Given the description of an element on the screen output the (x, y) to click on. 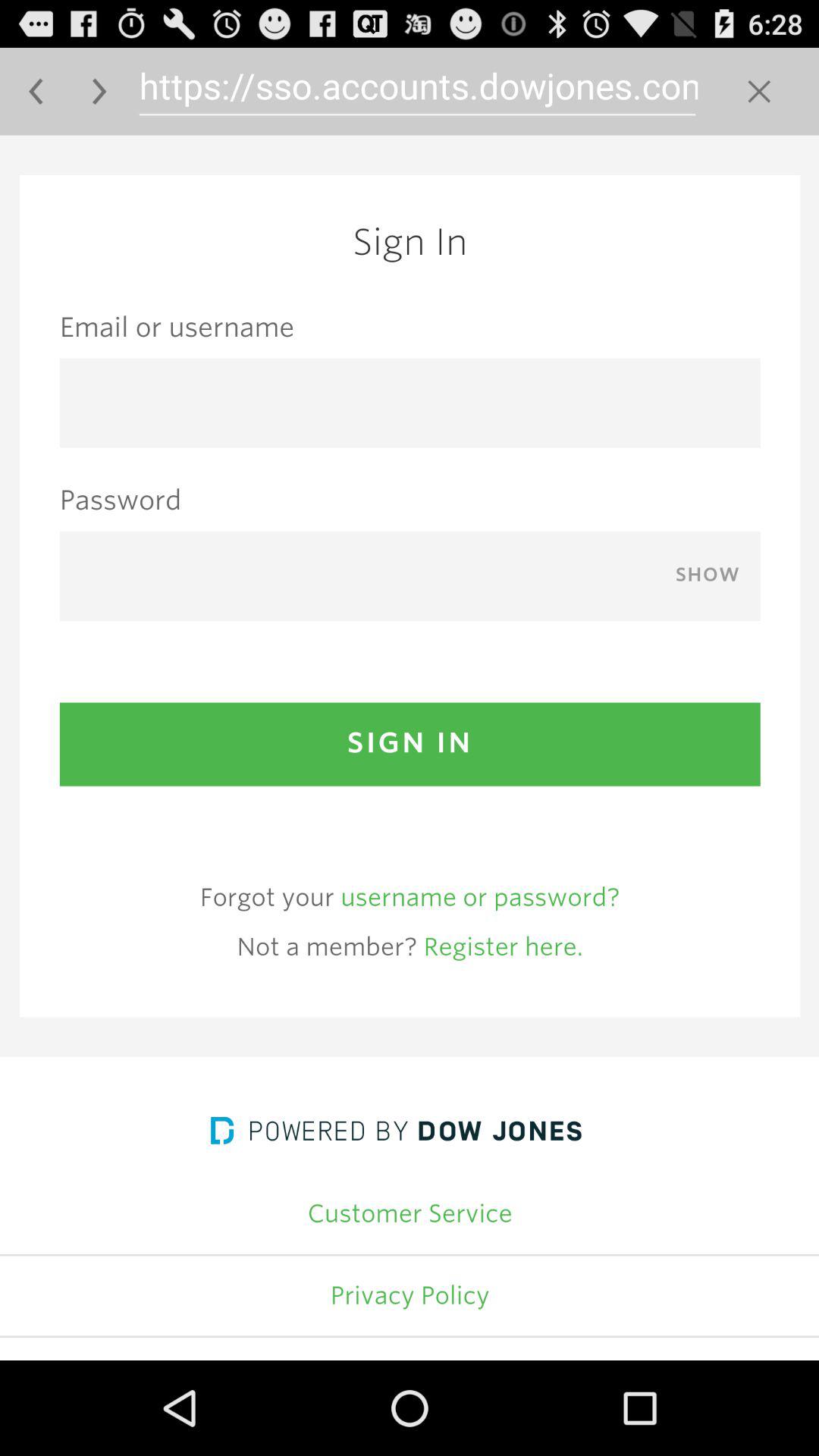
click to close option (759, 91)
